Given the description of an element on the screen output the (x, y) to click on. 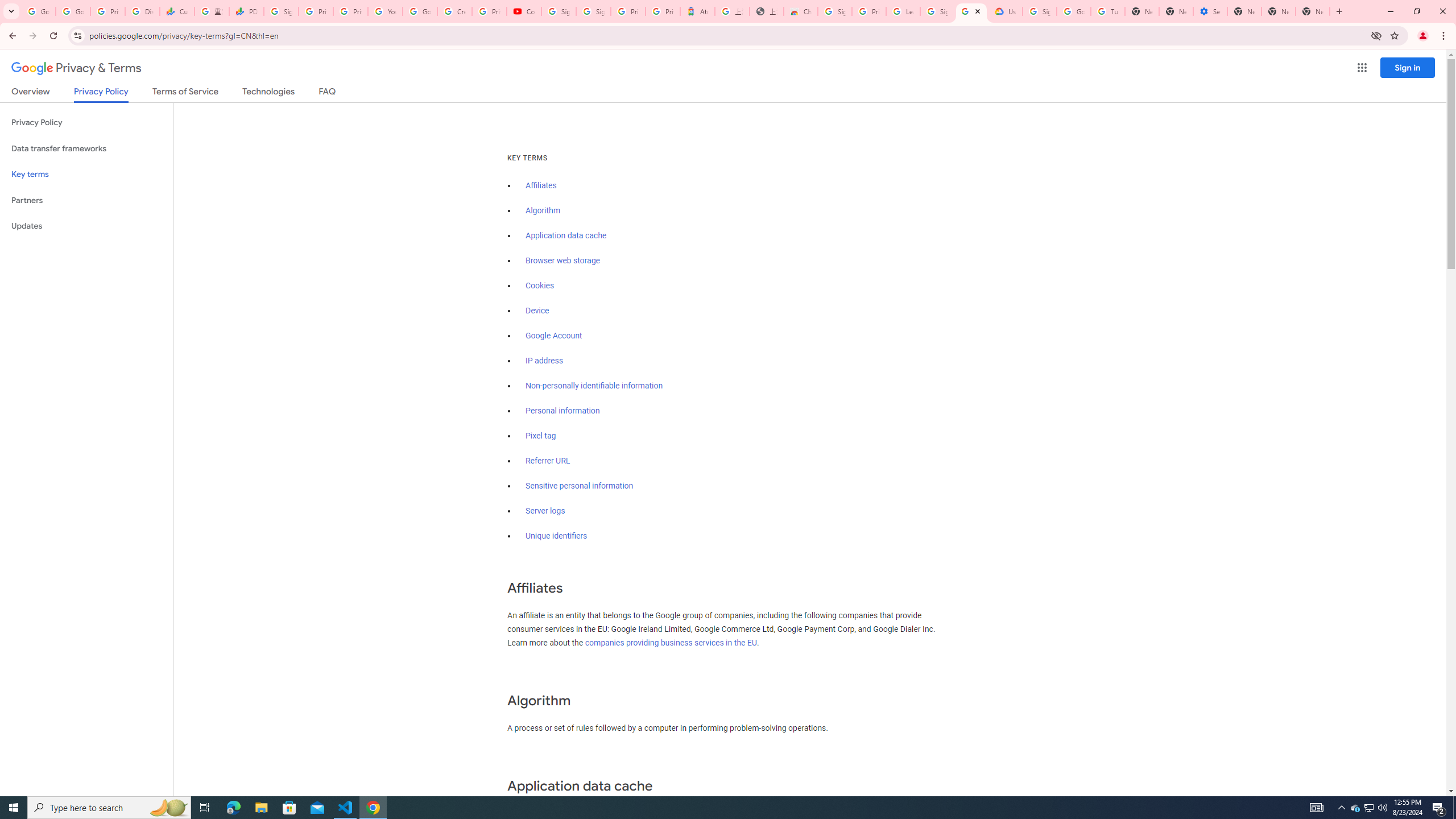
Chrome Web Store - Color themes by Chrome (800, 11)
Sign in - Google Accounts (281, 11)
Settings - Addresses and more (1209, 11)
Sign in - Google Accounts (834, 11)
Algorithm (542, 210)
Device (536, 311)
YouTube (384, 11)
Pixel tag (540, 435)
